Given the description of an element on the screen output the (x, y) to click on. 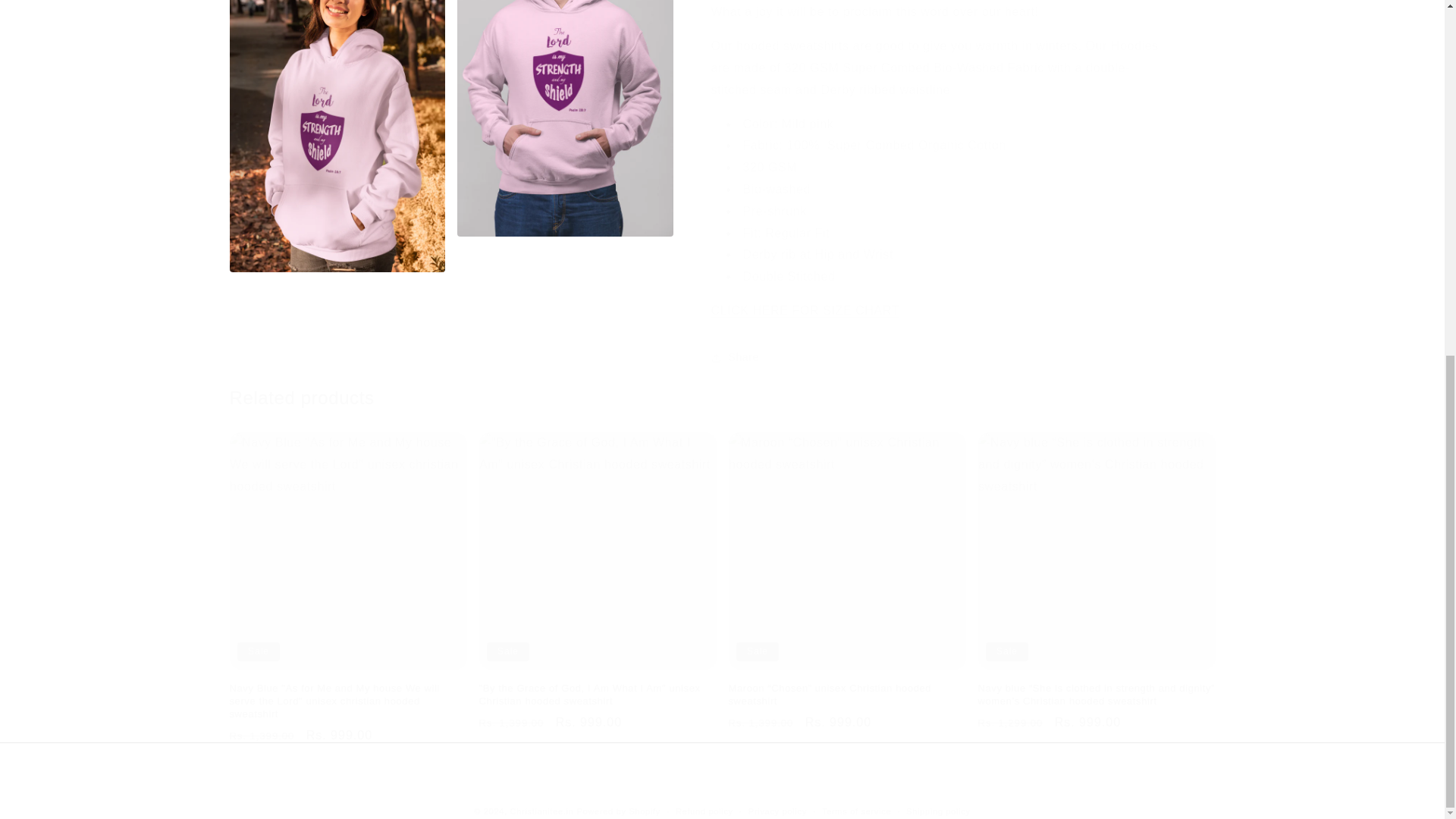
Size Chart Unisex Hooded Sweatshirts (805, 309)
